Given the description of an element on the screen output the (x, y) to click on. 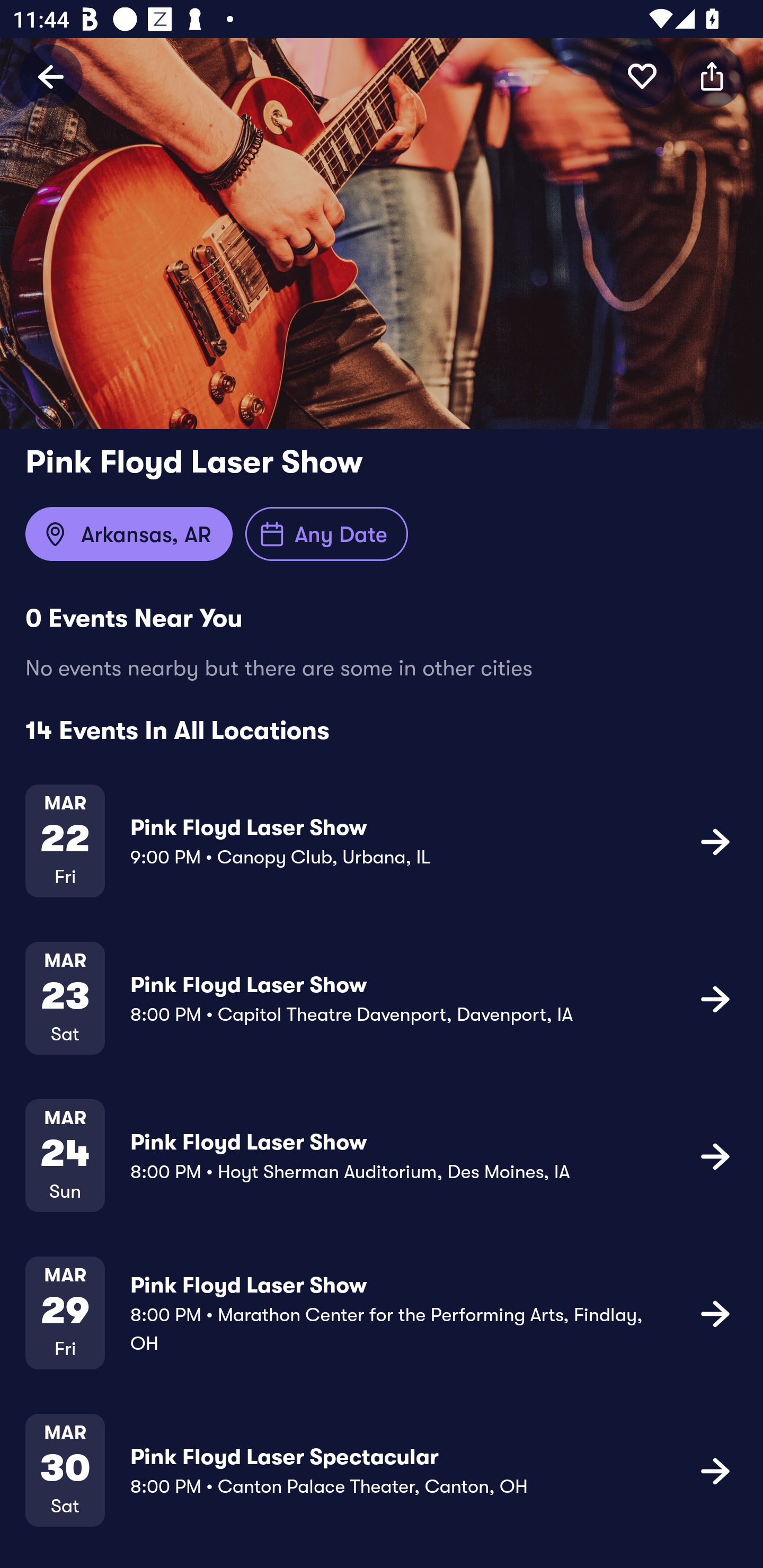
Back (50, 75)
icon button (641, 75)
icon button (711, 75)
Arkansas, AR (128, 533)
Any Date (326, 533)
icon button (714, 840)
icon button (714, 998)
icon button (714, 1155)
icon button (714, 1312)
icon button (714, 1470)
